Given the description of an element on the screen output the (x, y) to click on. 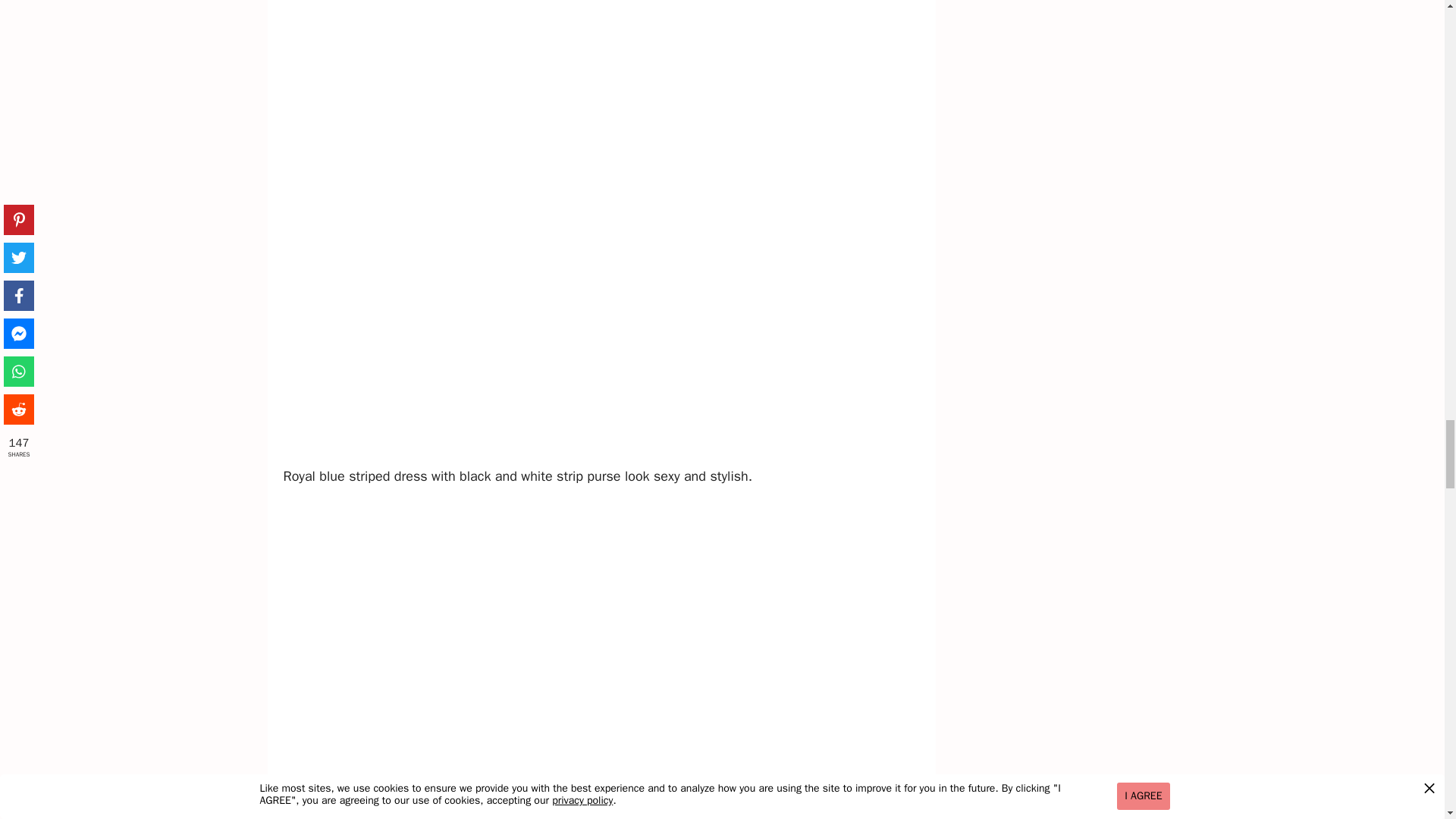
colors that go with royal blue striped dress photo (605, 660)
